Given the description of an element on the screen output the (x, y) to click on. 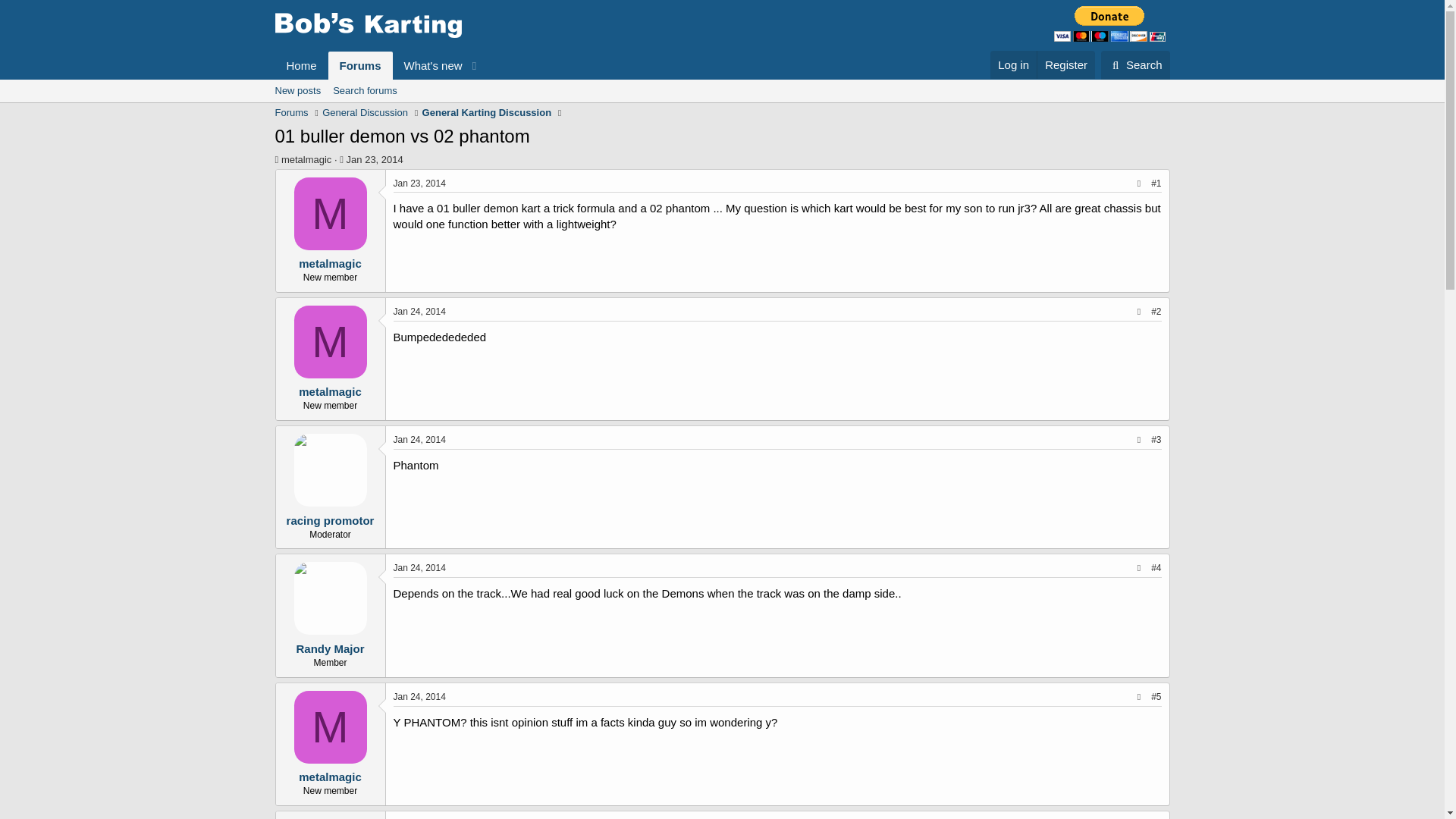
What's new (428, 65)
metalmagic (306, 159)
Search (1135, 64)
Jan 24, 2014 at 12:25 PM (419, 311)
Jan 24, 2014 at 2:09 PM (419, 567)
New posts (296, 90)
metalmagic (329, 263)
Search (1135, 64)
General Discussion (364, 112)
Forums (361, 65)
